Given the description of an element on the screen output the (x, y) to click on. 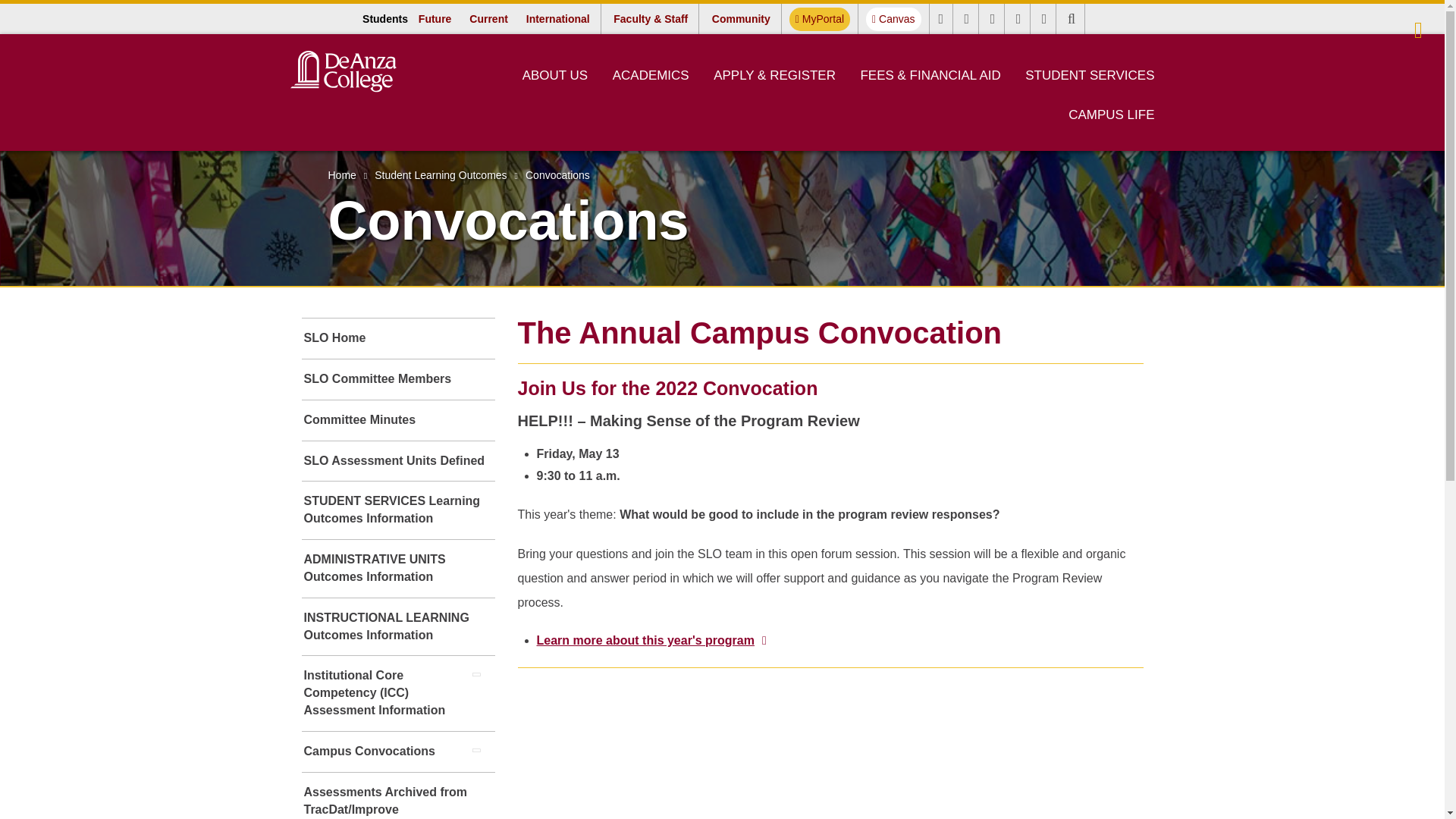
STUDENT SERVICES Learning Outcomes Information (398, 509)
International (557, 18)
ADMINISTRATIVE UNITS Outcomes Information (398, 568)
Student Learning Outcomes (440, 174)
SLO Assessment Units Defined (398, 461)
Community (740, 18)
SLO Home (398, 338)
CAMPUS LIFE (1111, 114)
SLO Committee Members (398, 379)
ABOUT US (555, 75)
